Given the description of an element on the screen output the (x, y) to click on. 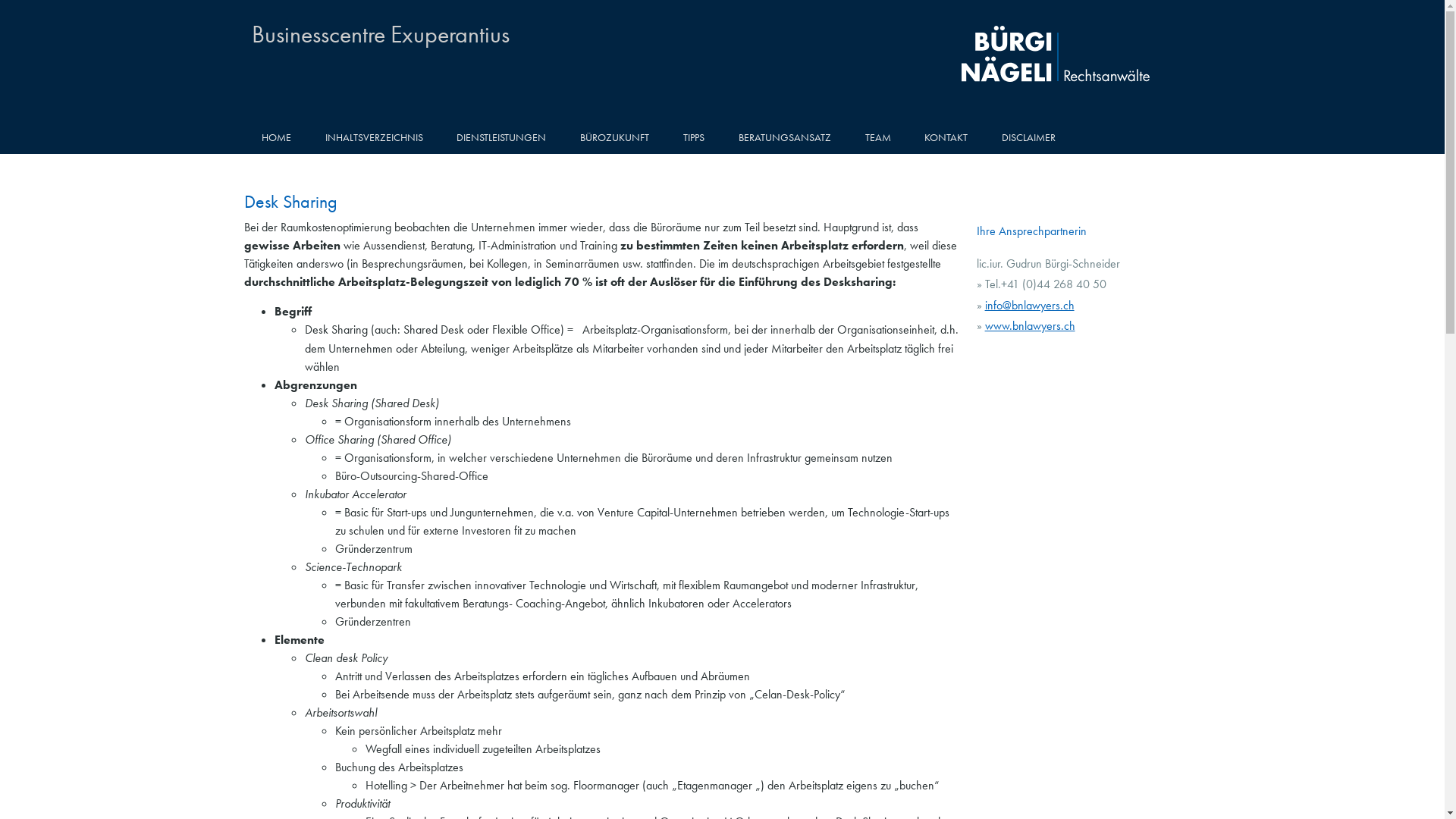
info@bnlawyers.ch Element type: text (1029, 305)
TEAM Element type: text (877, 137)
TIPPS Element type: text (693, 137)
Businesscentre Exuperantius Element type: text (380, 34)
KONTAKT Element type: text (946, 137)
www.bnlawyers.ch Element type: text (1030, 325)
INHALTSVERZEICHNIS Element type: text (373, 137)
DIENSTLEISTUNGEN Element type: text (501, 137)
HOME Element type: text (275, 137)
BERATUNGSANSATZ Element type: text (784, 137)
DISCLAIMER Element type: text (1029, 137)
